Given the description of an element on the screen output the (x, y) to click on. 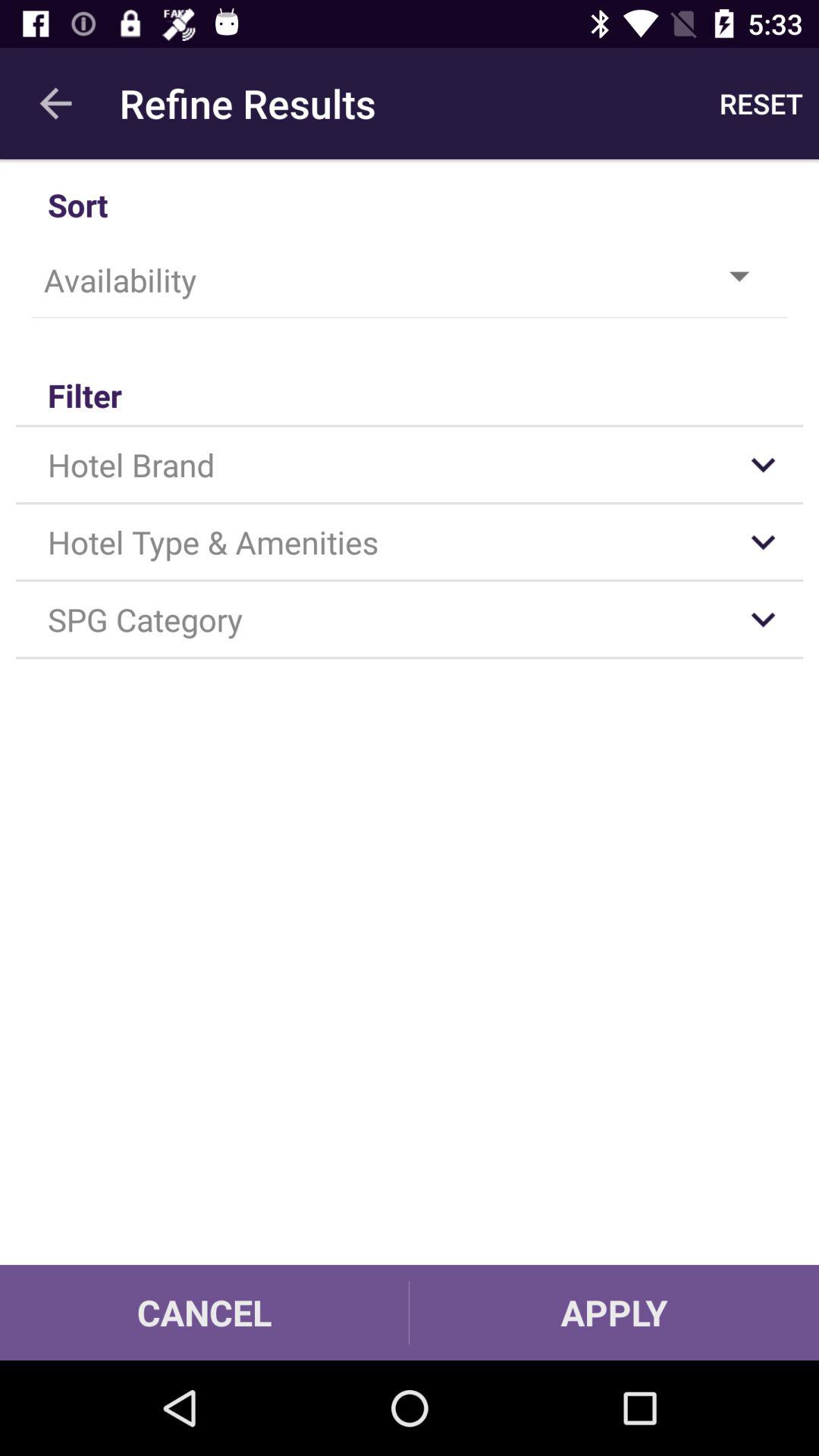
launch item above sort icon (55, 103)
